Given the description of an element on the screen output the (x, y) to click on. 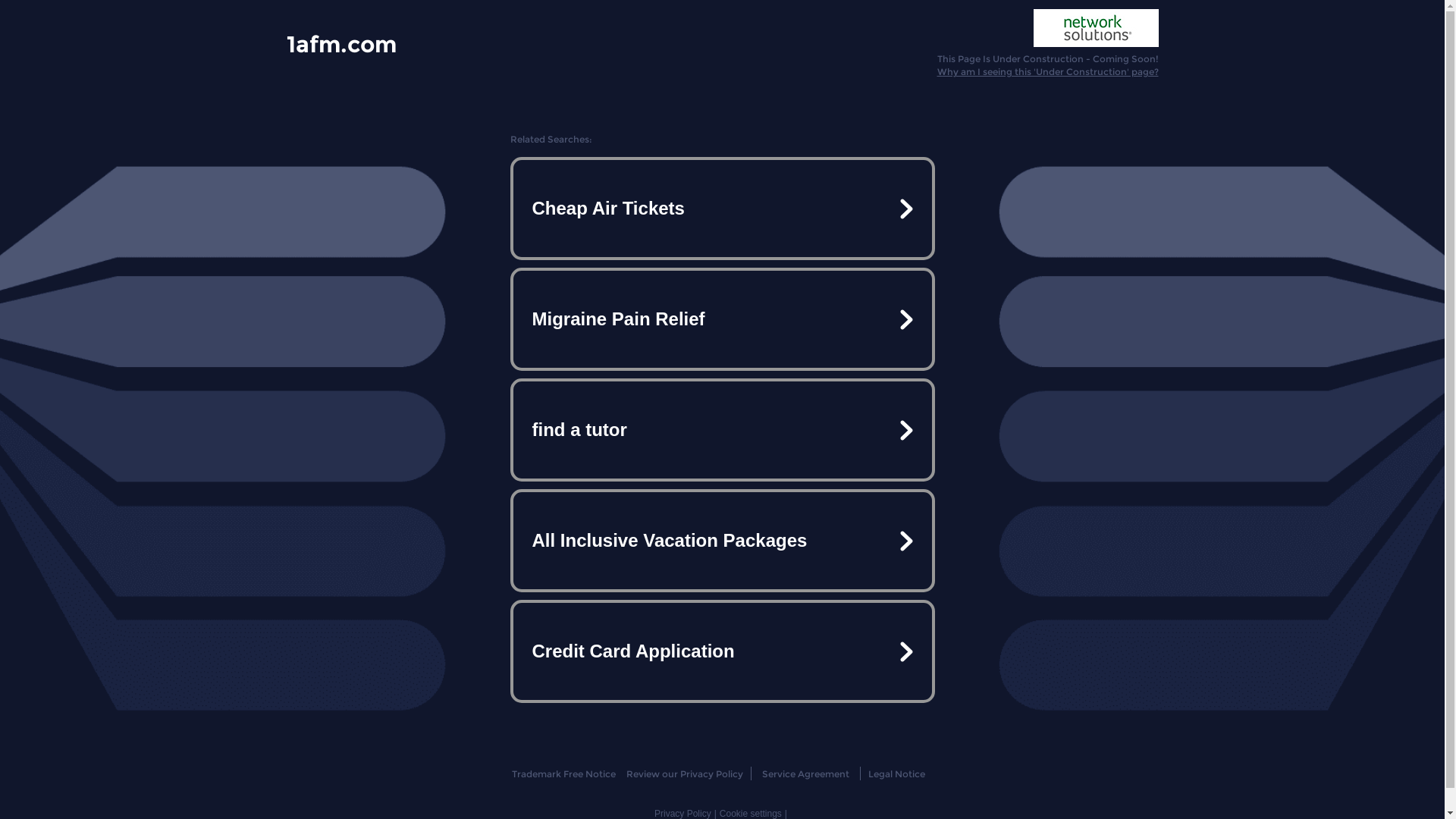
Migraine Pain Relief Element type: text (721, 318)
Credit Card Application Element type: text (721, 650)
Review our Privacy Policy Element type: text (684, 773)
Service Agreement Element type: text (805, 773)
Why am I seeing this 'Under Construction' page? Element type: text (1047, 71)
1afm.com Element type: text (341, 43)
Legal Notice Element type: text (896, 773)
Trademark Free Notice Element type: text (563, 773)
find a tutor Element type: text (721, 429)
All Inclusive Vacation Packages Element type: text (721, 540)
Cheap Air Tickets Element type: text (721, 208)
